Given the description of an element on the screen output the (x, y) to click on. 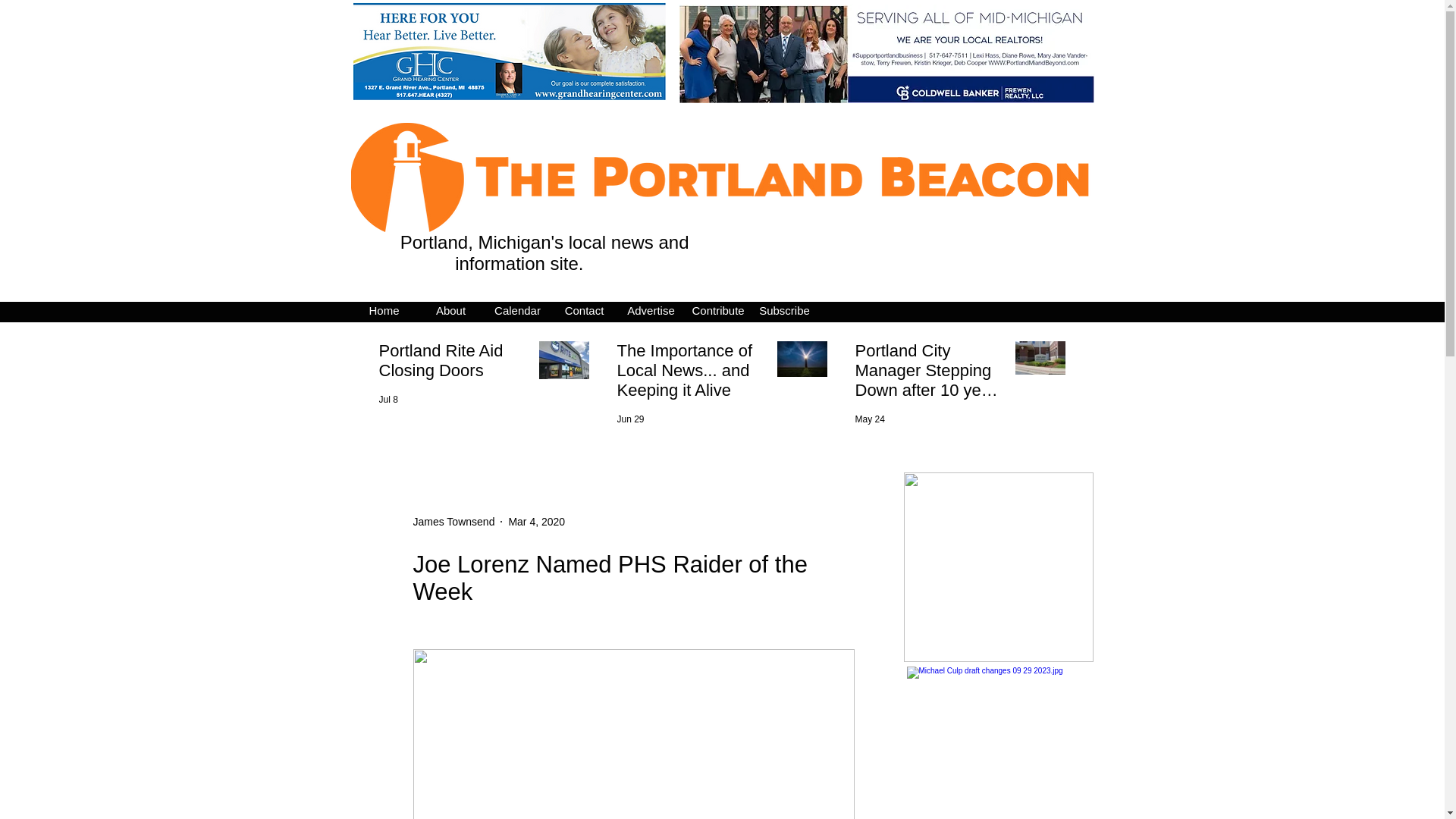
May 24 (870, 419)
Advertise (650, 311)
Mar 4, 2020 (536, 521)
About (449, 311)
 Portland, Michigan's local news and information site.  (541, 252)
James Townsend (453, 521)
Jul 8 (387, 398)
Contact (583, 311)
Jun 29 (631, 419)
Portland Rite Aid Closing Doors (453, 363)
Home (383, 311)
Contribute (717, 311)
Subscribe (783, 311)
The Importance of Local News... and Keeping it Alive (692, 373)
